Given the description of an element on the screen output the (x, y) to click on. 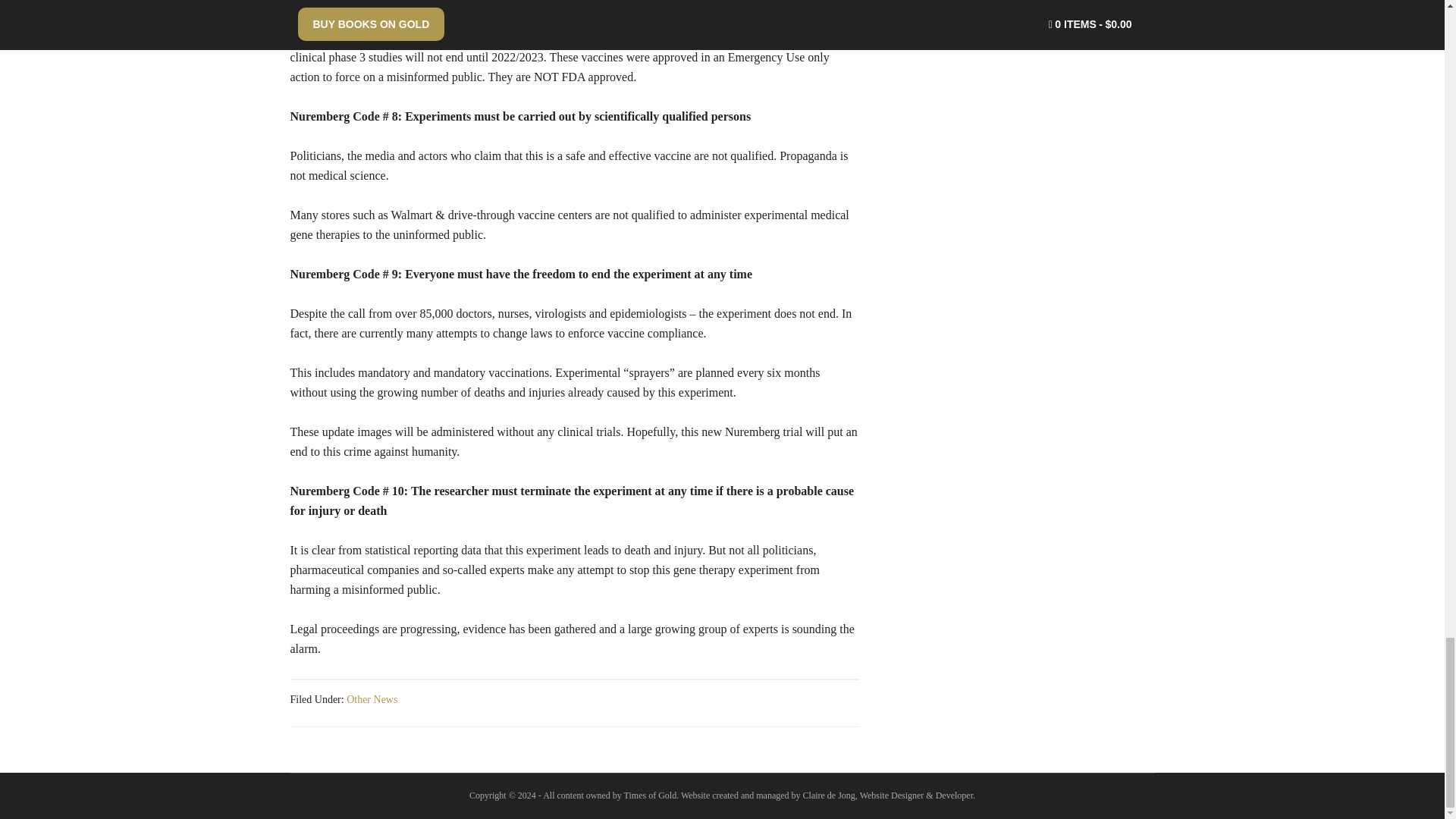
Other News (371, 699)
